Given the description of an element on the screen output the (x, y) to click on. 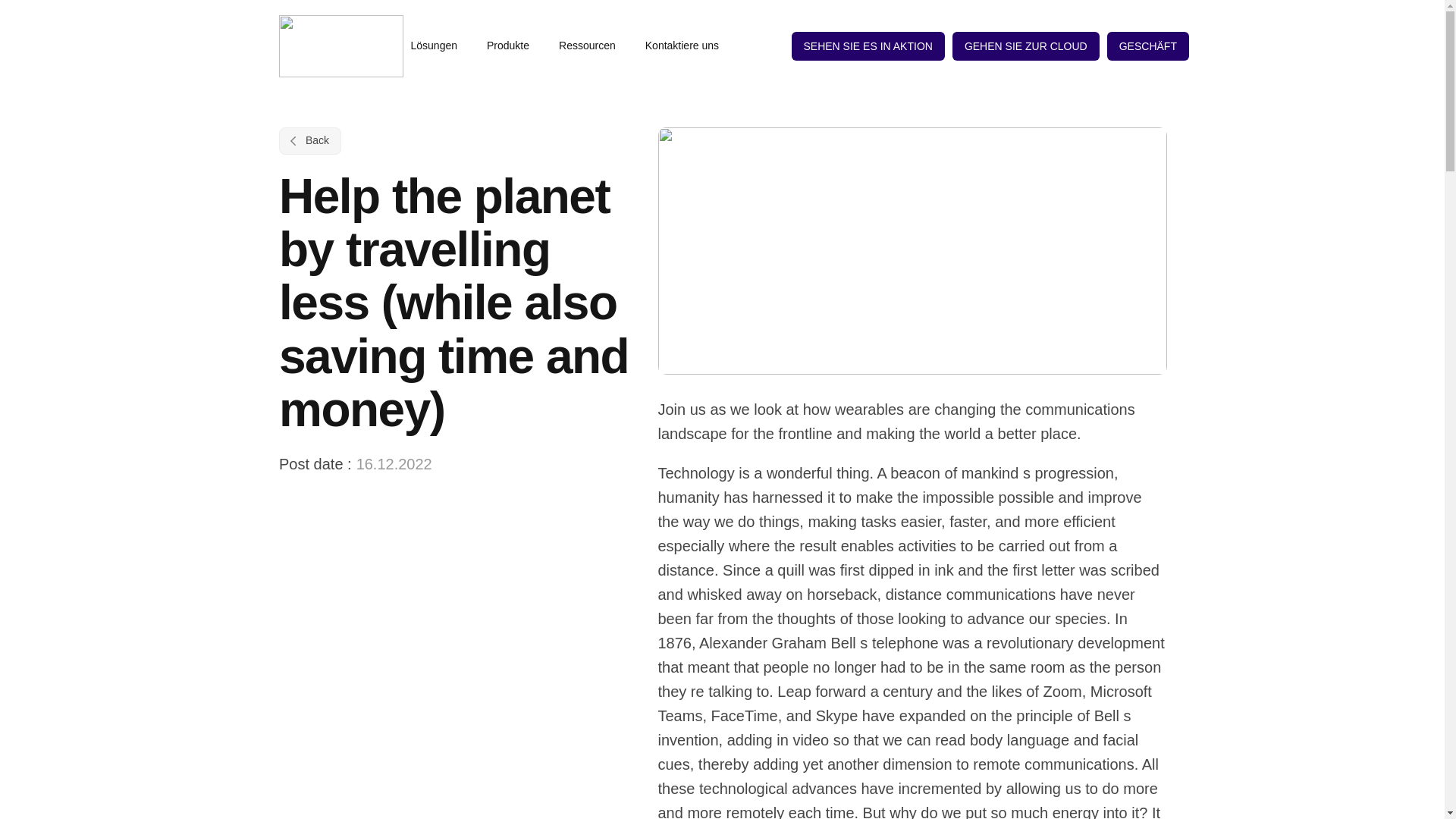
Back (309, 140)
SEHEN SIE ES IN AKTION (868, 45)
Ressourcen (594, 46)
Kontaktiere uns (681, 46)
Produkte (515, 46)
GEHEN SIE ZUR CLOUD (1025, 45)
